Given the description of an element on the screen output the (x, y) to click on. 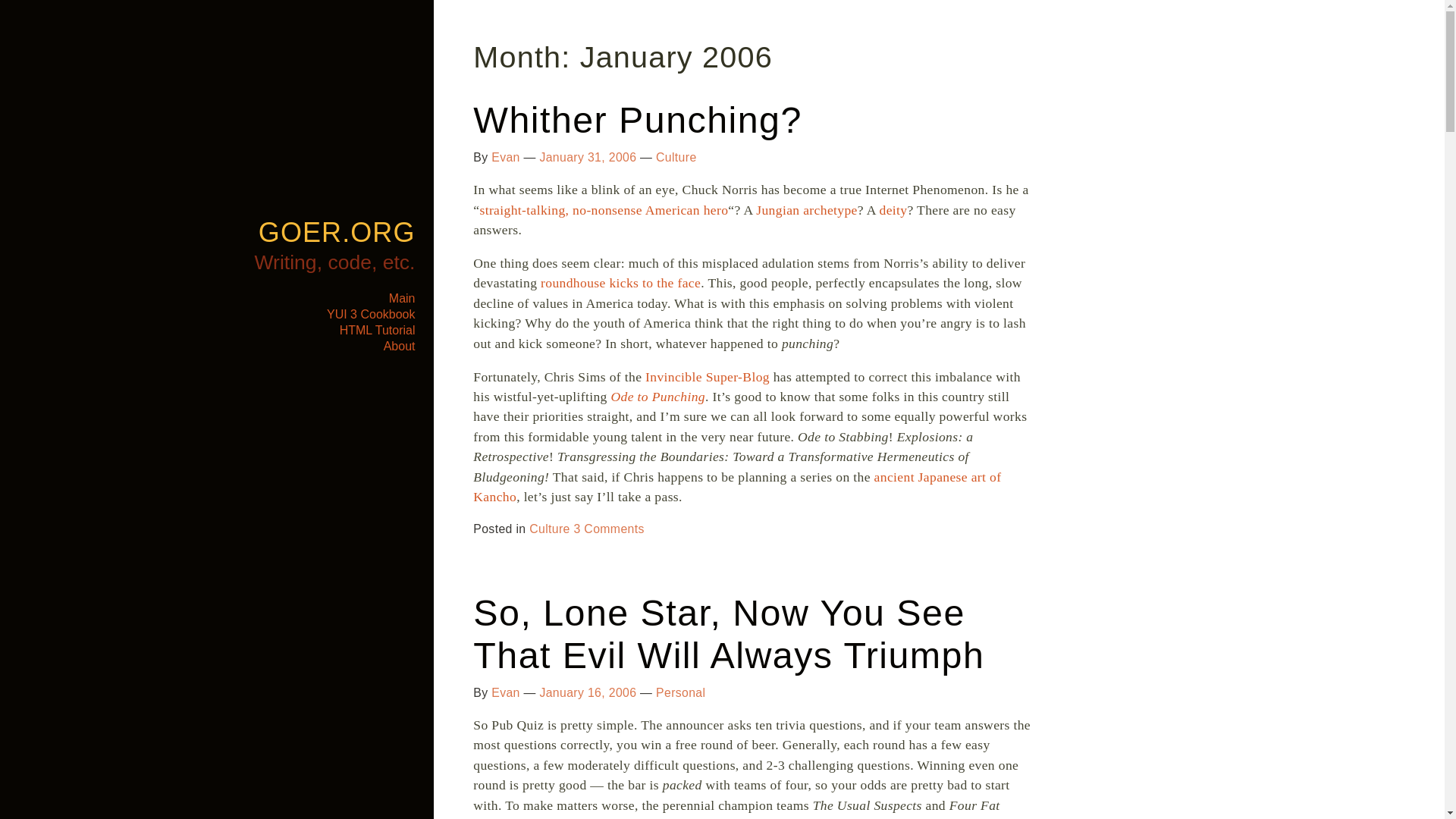
Evan (505, 156)
Jungian archetype (806, 209)
Evan (505, 692)
Culture (676, 156)
GOER.ORG (336, 232)
ancient Japanese art of Kancho (737, 486)
Main (401, 297)
Whither Punching? (637, 119)
HTML Tutorial (376, 329)
January 16, 2006 (587, 692)
